Given the description of an element on the screen output the (x, y) to click on. 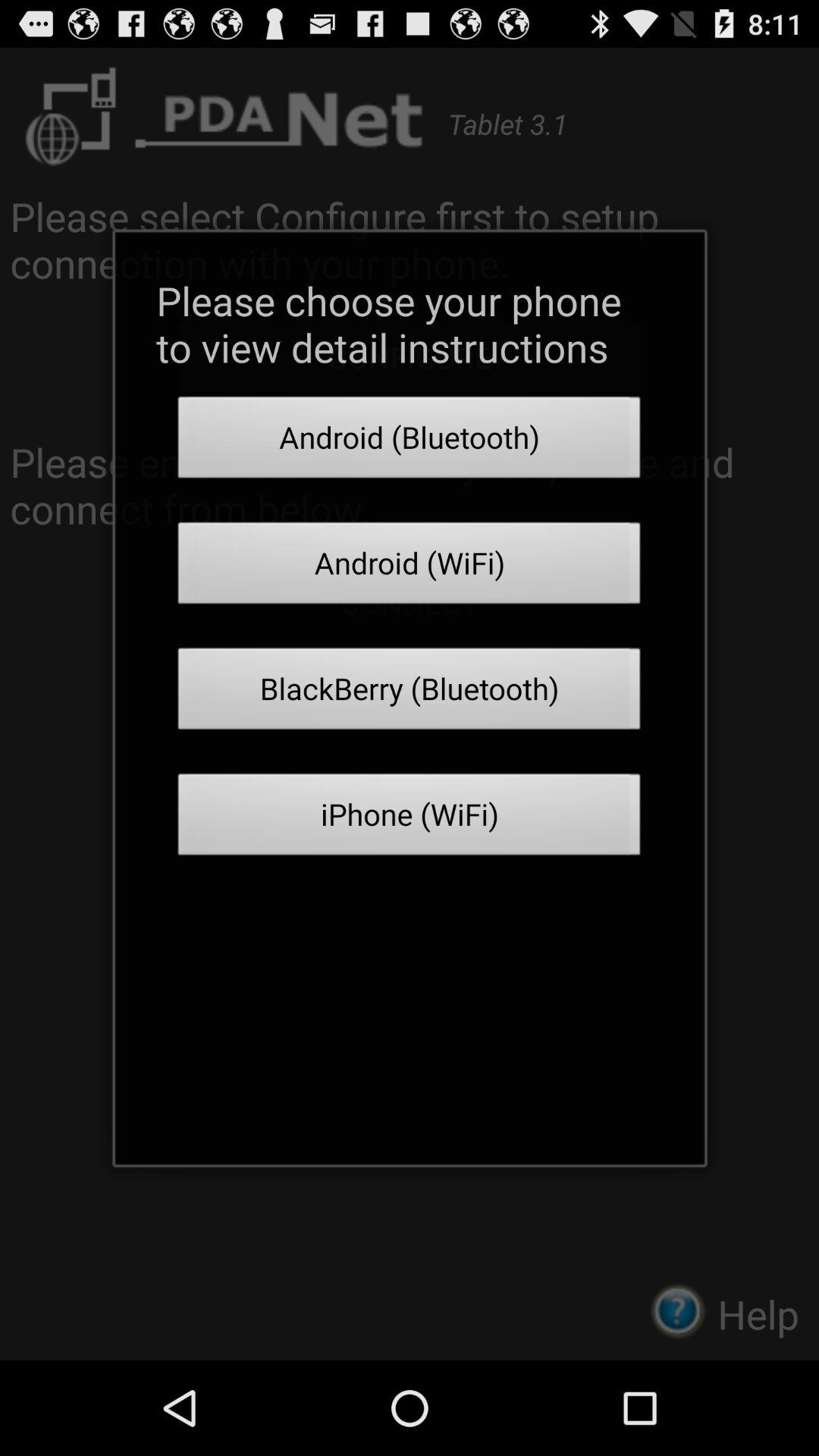
swipe to android (bluetooth) button (409, 441)
